Given the description of an element on the screen output the (x, y) to click on. 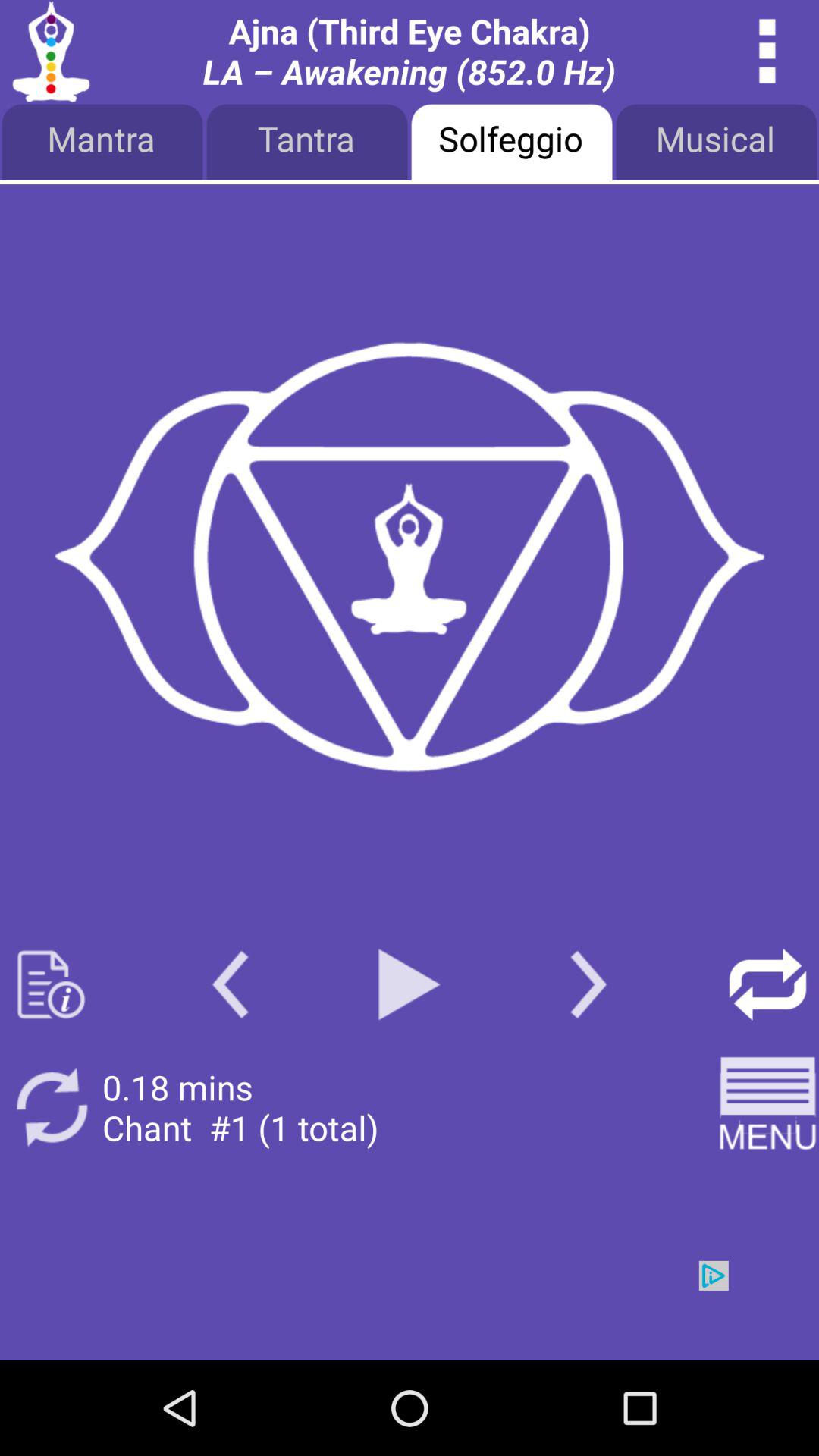
overflow menu (767, 51)
